Given the description of an element on the screen output the (x, y) to click on. 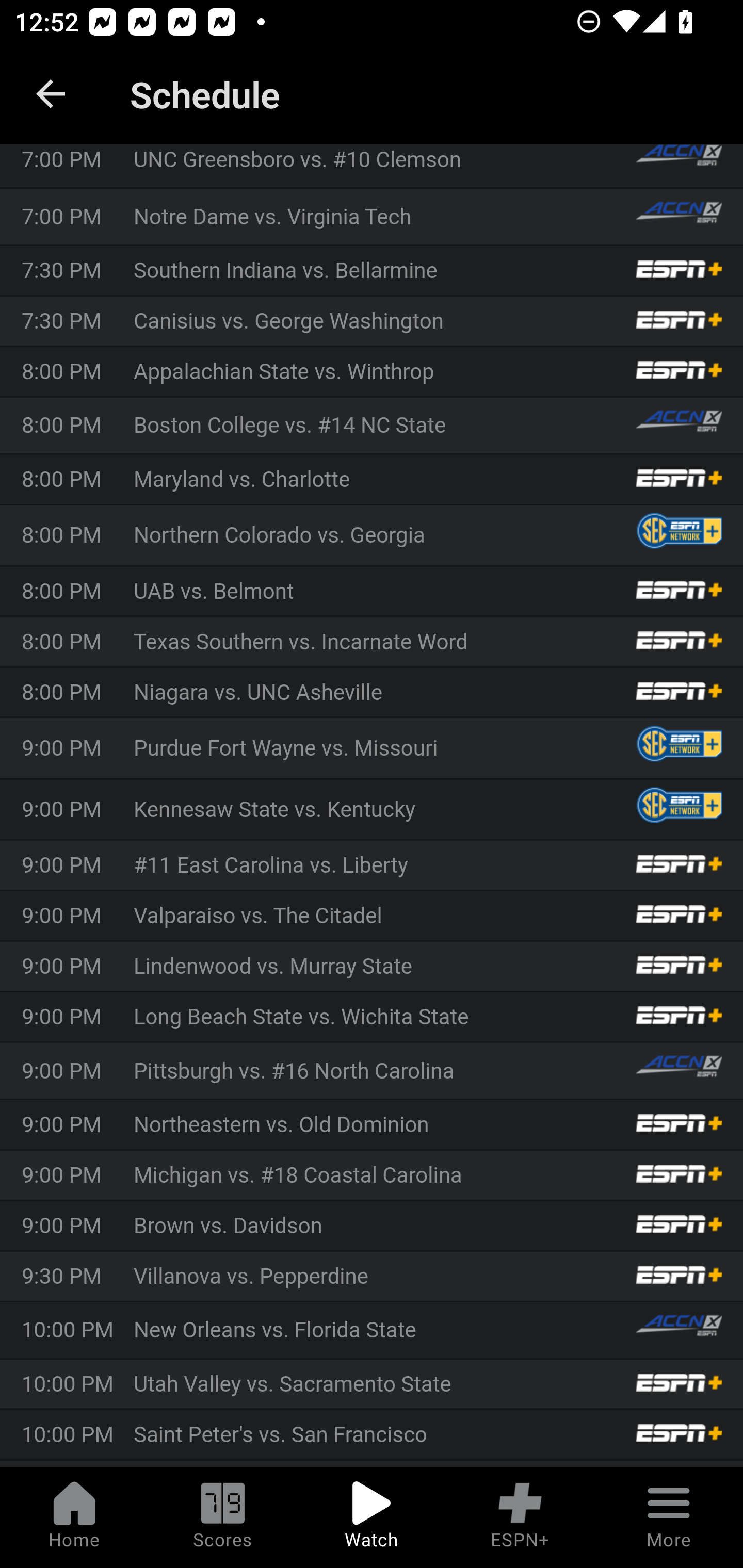
back.button (50, 93)
Home (74, 1517)
Scores (222, 1517)
ESPN+ (519, 1517)
More (668, 1517)
